Given the description of an element on the screen output the (x, y) to click on. 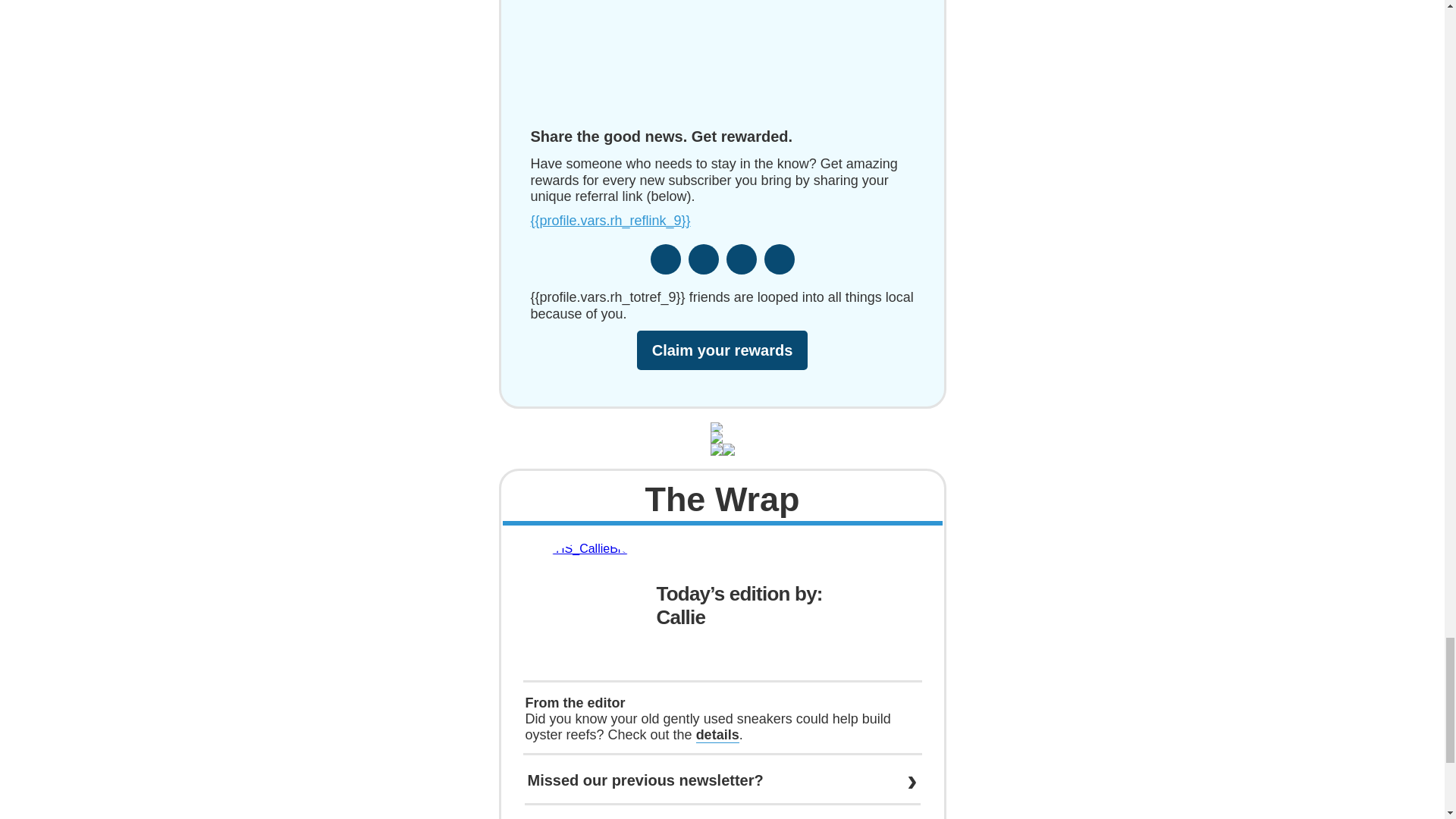
Share via Linkedin (741, 259)
Share via Email (779, 259)
Share via Facebook (665, 259)
Share via Twitter (703, 259)
